Given the description of an element on the screen output the (x, y) to click on. 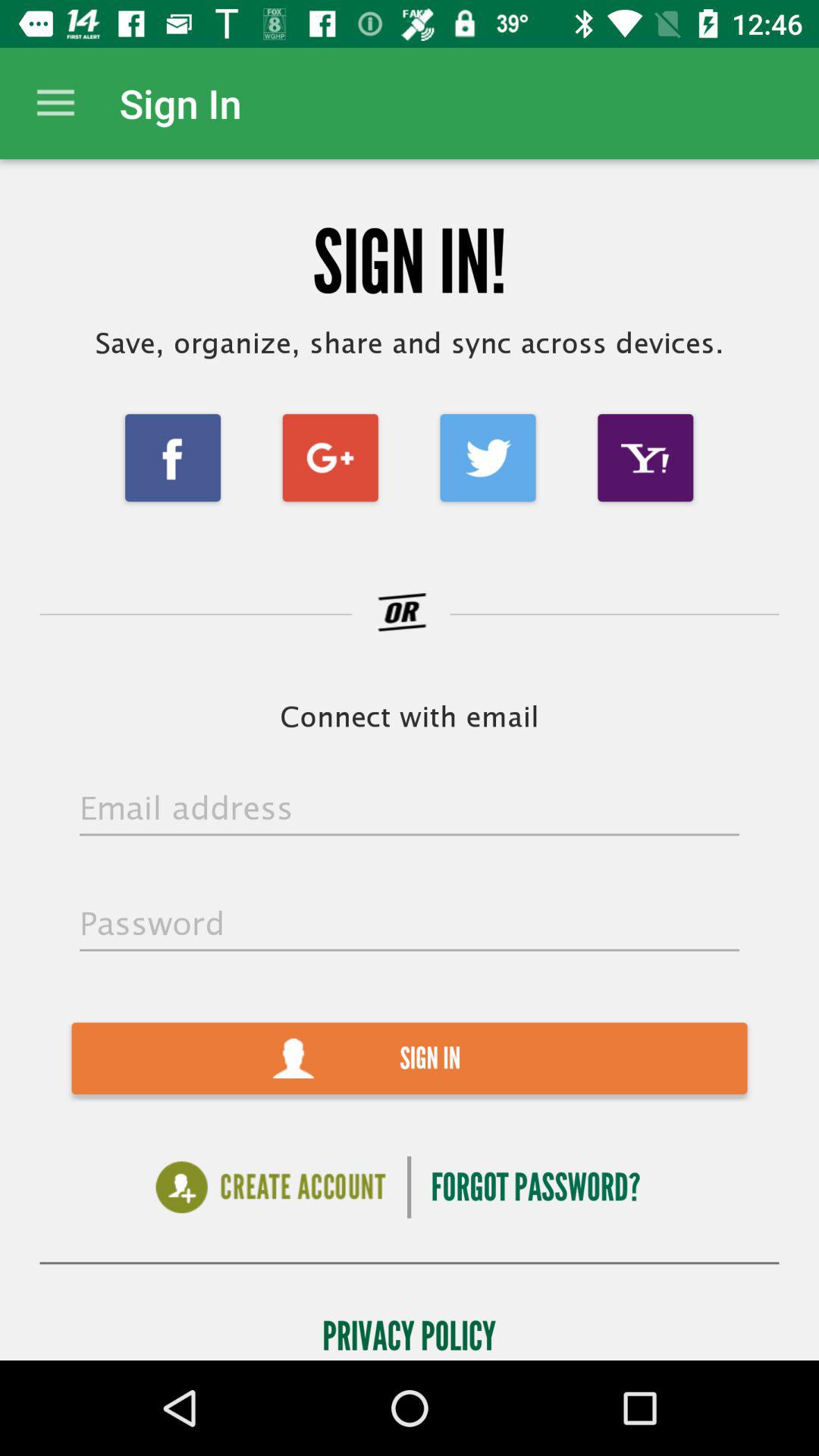
create new account (270, 1187)
